Given the description of an element on the screen output the (x, y) to click on. 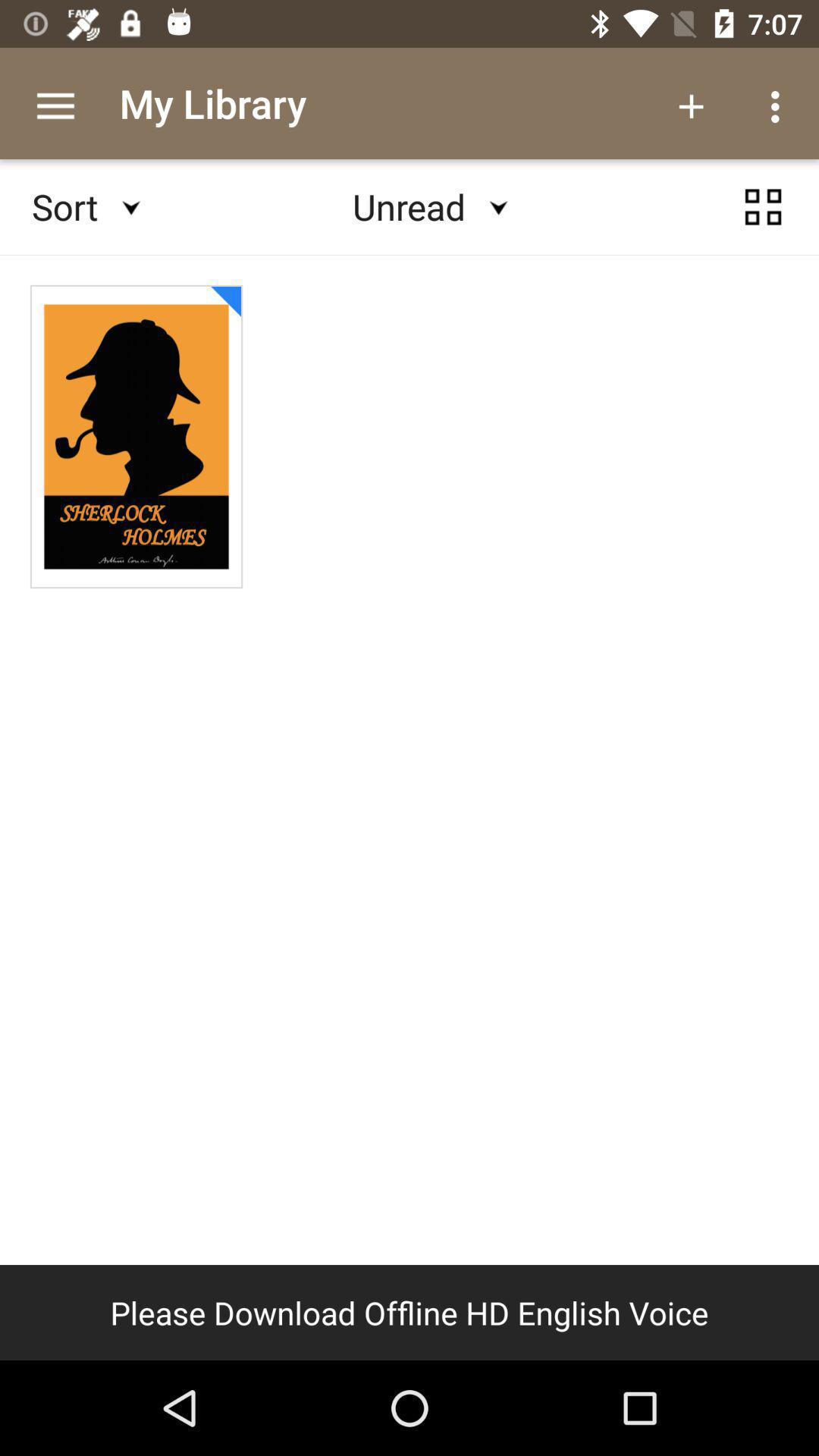
toggle view (763, 206)
